Given the description of an element on the screen output the (x, y) to click on. 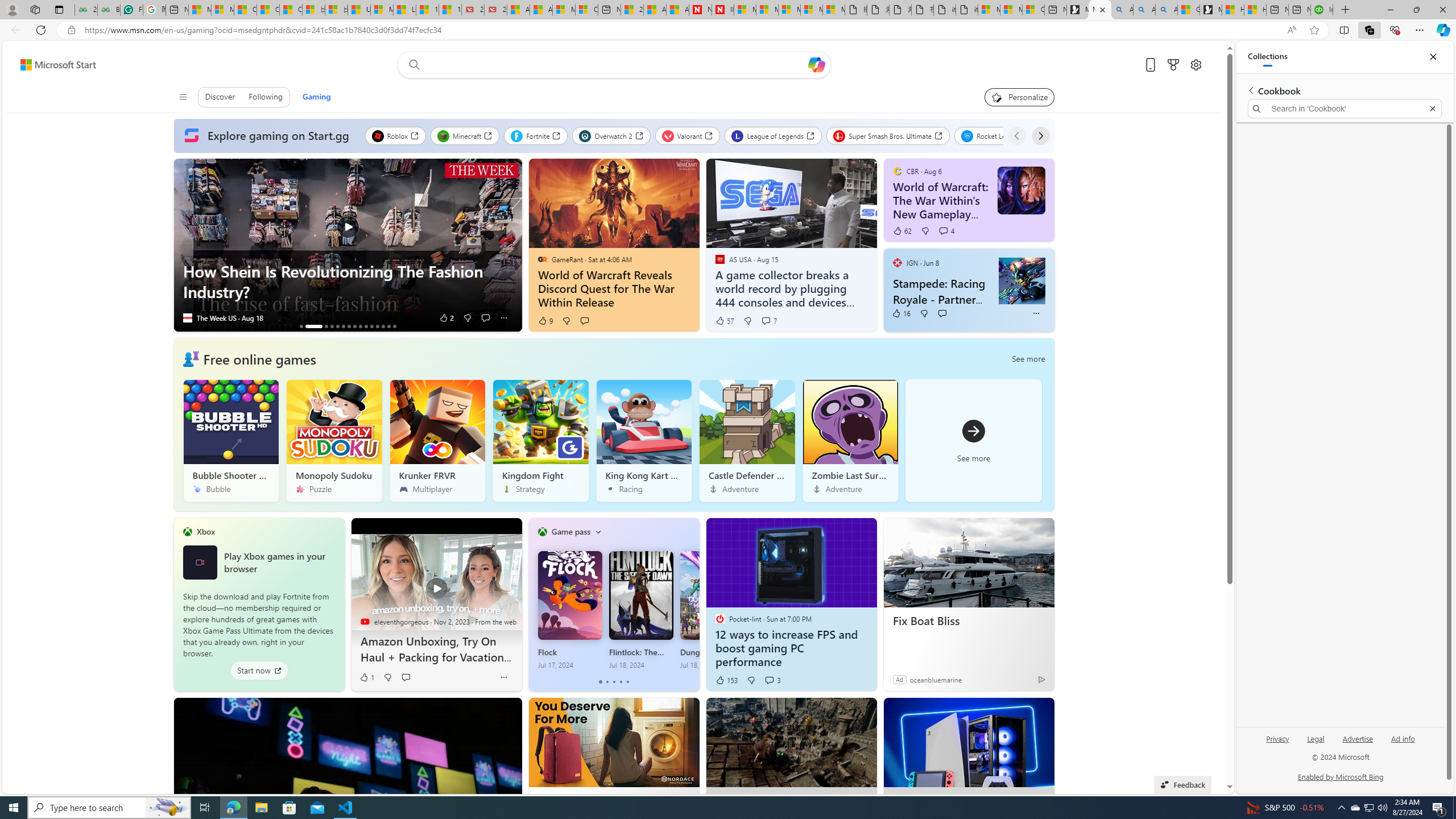
1 Like (365, 676)
tab-2 (613, 682)
Alabama high school quarterback dies - Search (1122, 9)
12 ways to increase FPS and boost gaming PC performance (790, 648)
Cloud Computing Services | Microsoft Azure (586, 9)
Lifestyle - MSN (404, 9)
57 Like (724, 320)
USA TODAY - MSN (359, 9)
Class: previous-flipper (533, 604)
Class: icon-img (597, 531)
